Given the description of an element on the screen output the (x, y) to click on. 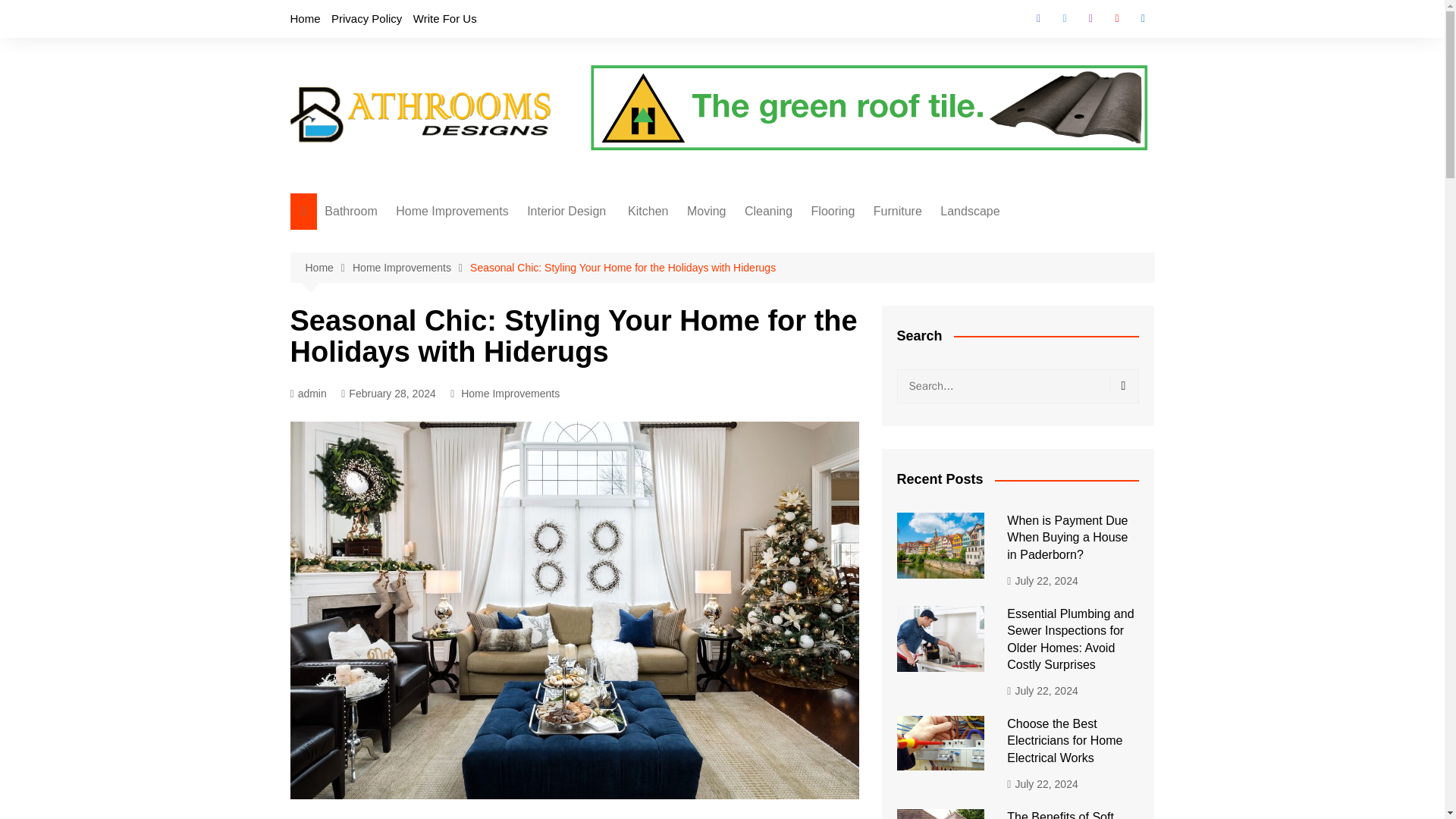
Facebook (1038, 18)
Flooring (833, 211)
Home Improvements (510, 393)
Home Improvements (452, 211)
Interior Design  (568, 211)
Moving (706, 211)
Twitter (1063, 18)
Kitchen (647, 211)
admin (307, 393)
Bathroom (350, 211)
Home (304, 18)
Home Improvements (411, 267)
Cleaning (767, 211)
Home (328, 267)
